Given the description of an element on the screen output the (x, y) to click on. 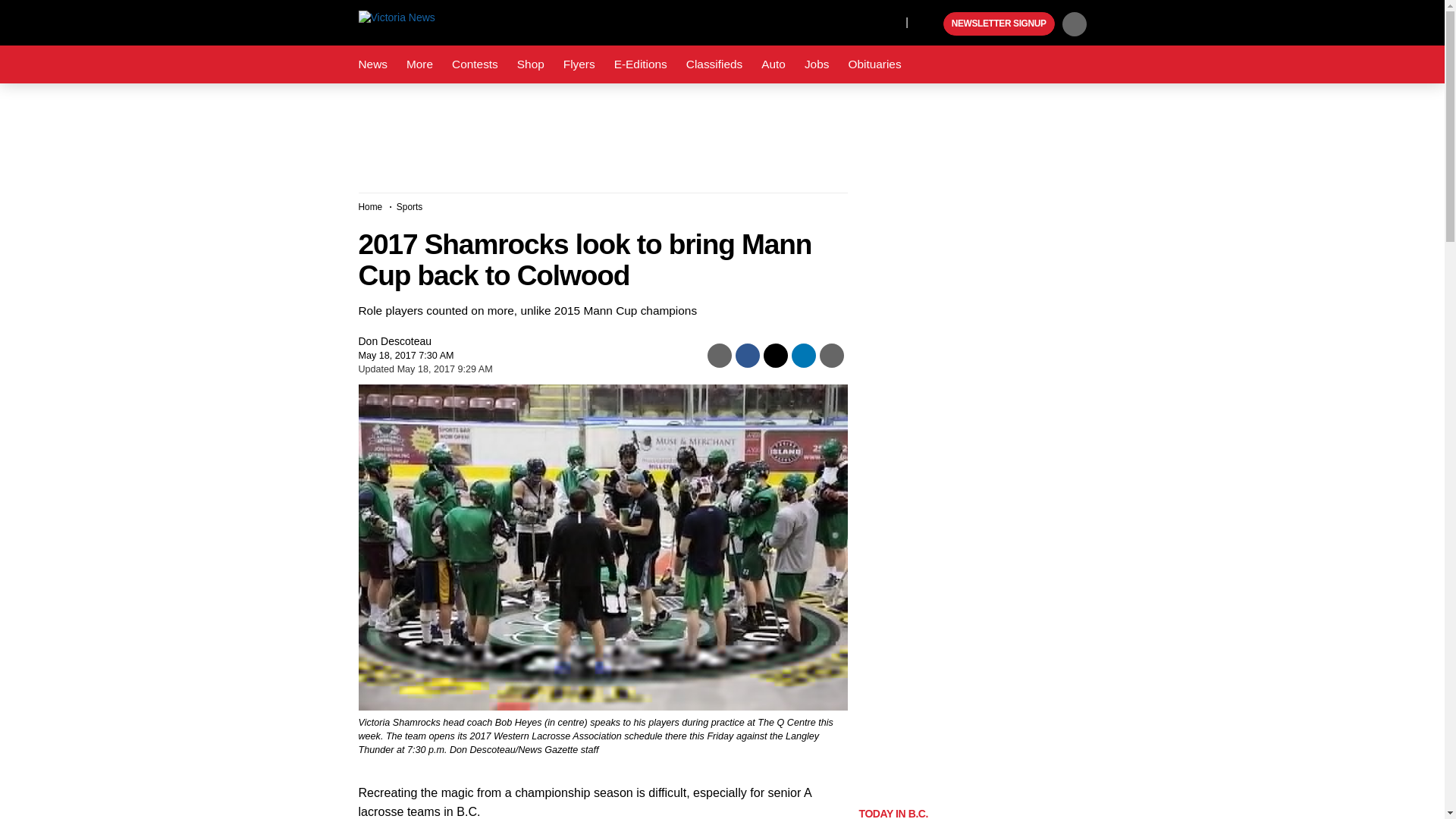
Black Press Media (929, 24)
X (889, 21)
Play (929, 24)
NEWSLETTER SIGNUP (998, 24)
News (372, 64)
